Given the description of an element on the screen output the (x, y) to click on. 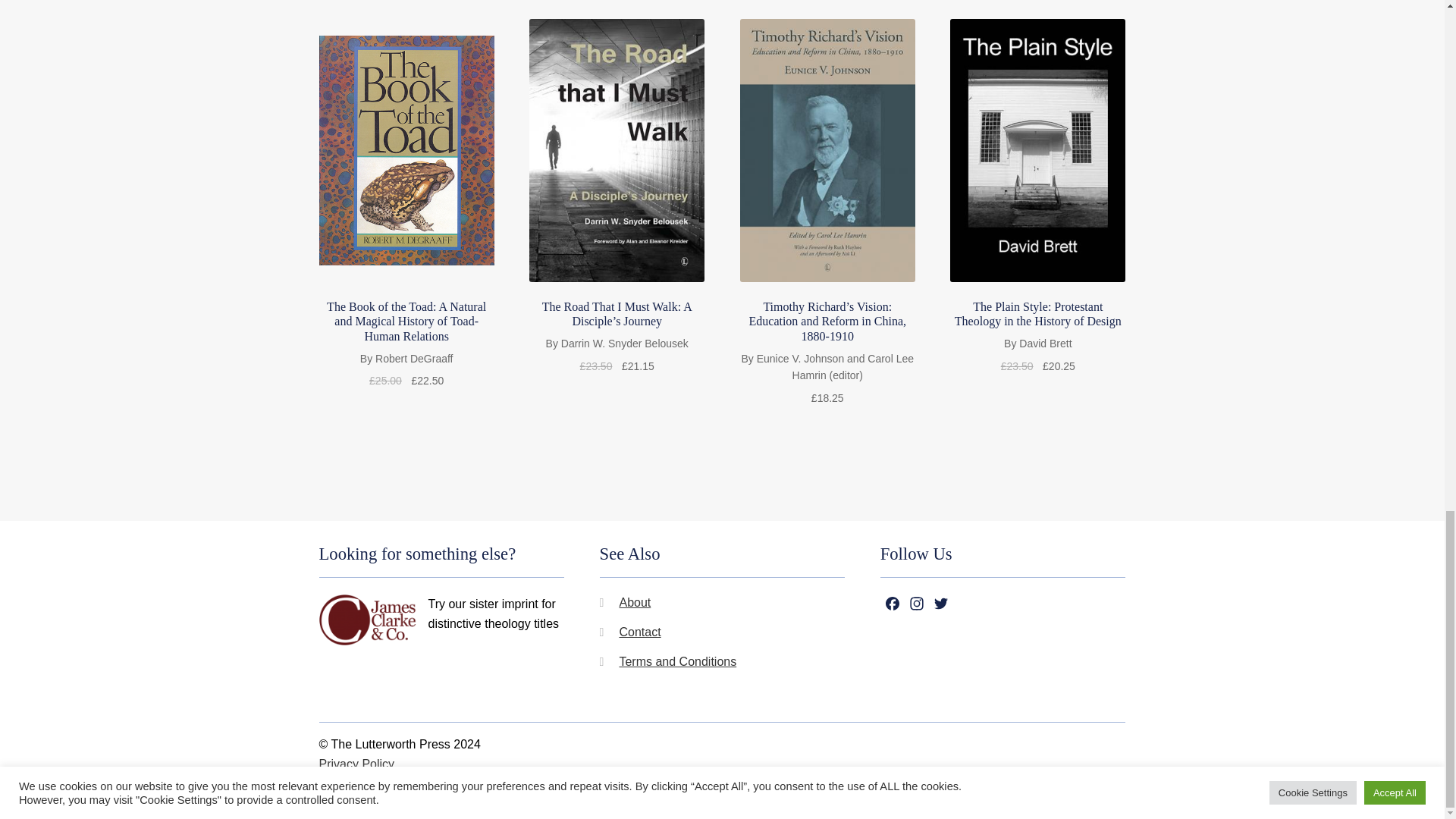
Instagram (916, 606)
Facebook (892, 606)
Twitter (940, 606)
